Given the description of an element on the screen output the (x, y) to click on. 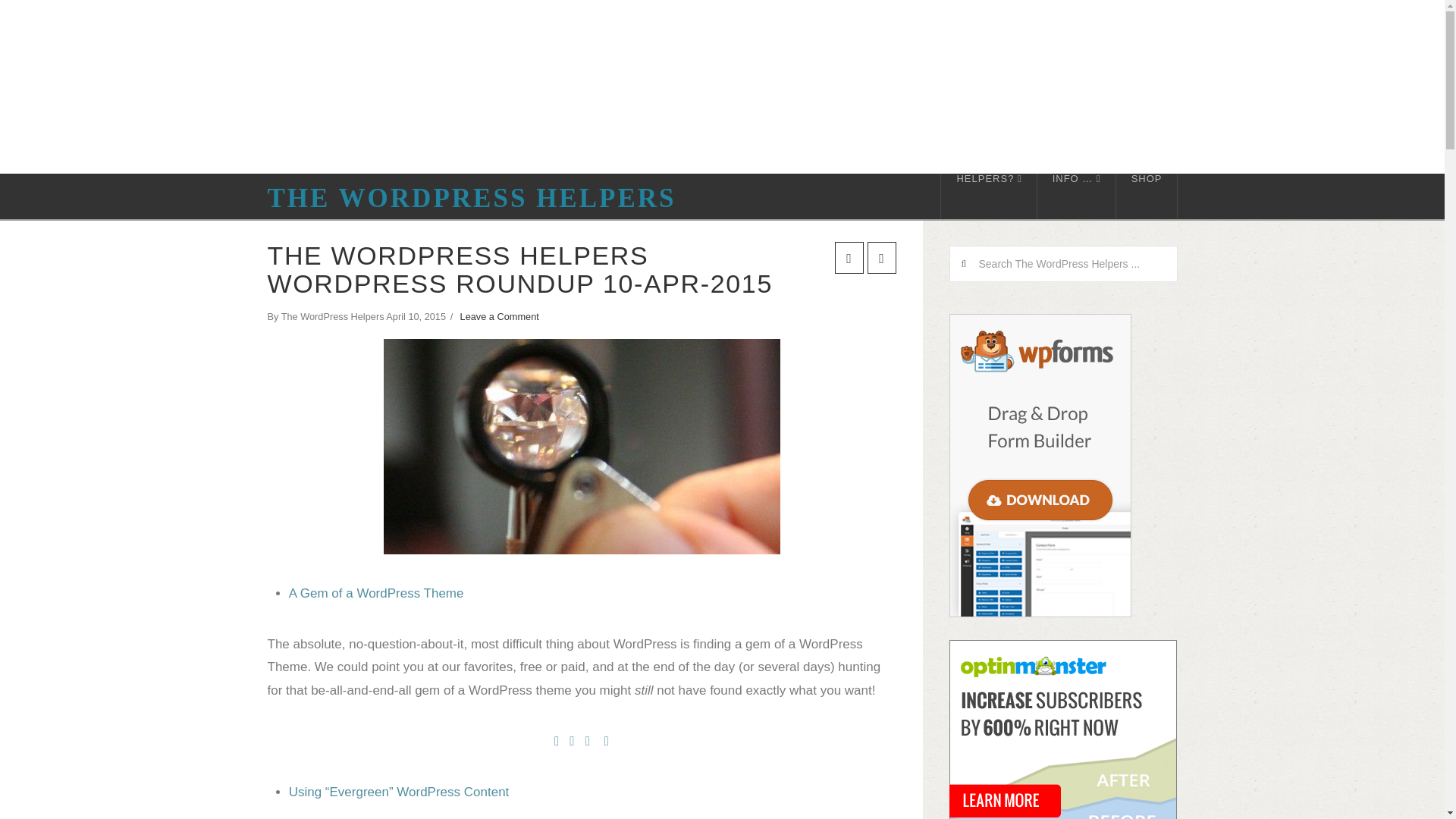
A Gem of a WordPress Theme (376, 593)
A Gem of a WordPress Theme (582, 446)
Get WordPress Help. Make WordPress Work. (470, 198)
Evergreen WordPress Content (398, 791)
HELPERS? (988, 196)
THE WORDPRESS HELPERS (470, 198)
